Given the description of an element on the screen output the (x, y) to click on. 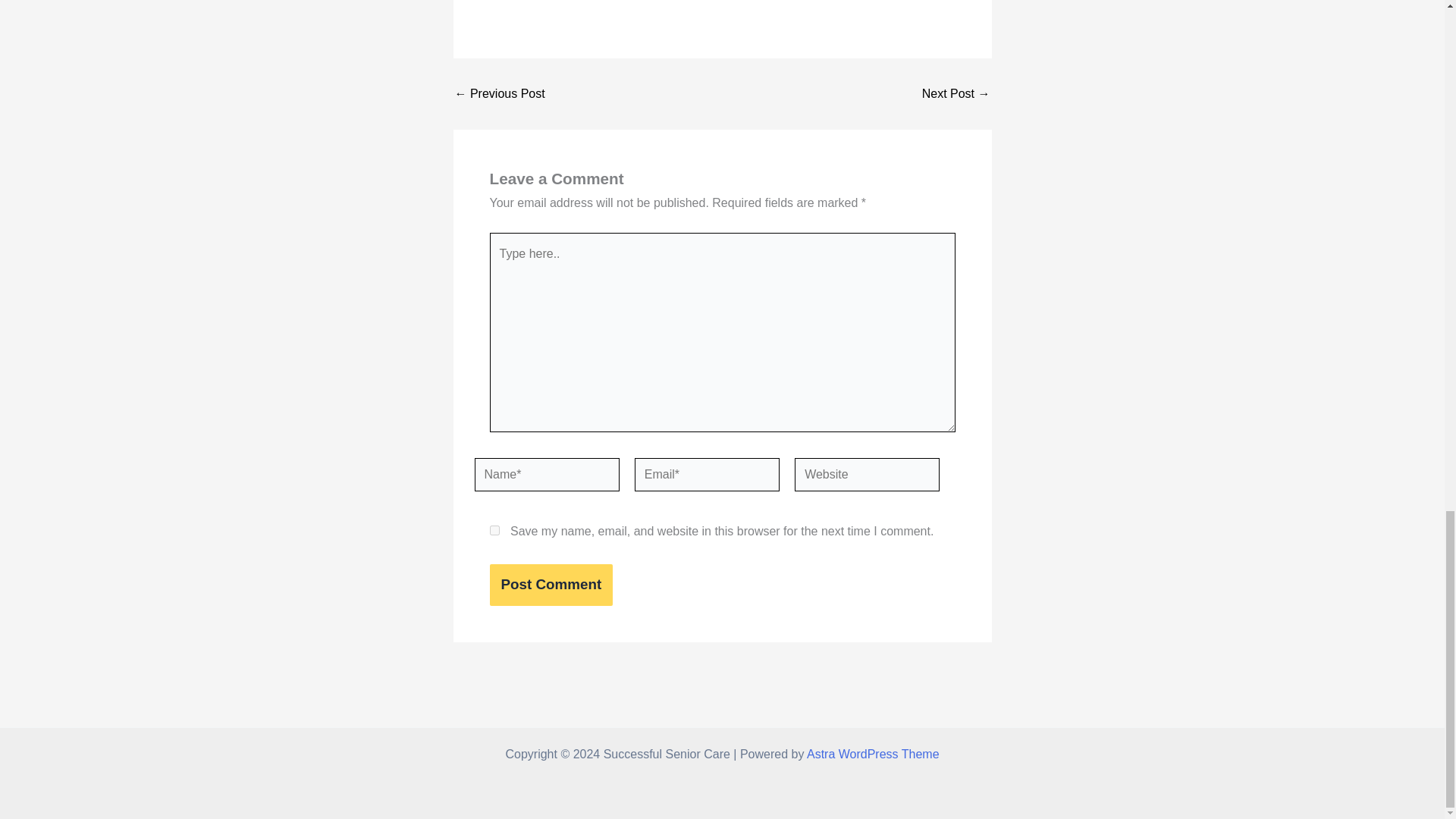
Post Comment (550, 585)
Astra WordPress Theme (872, 753)
Beginning the New Business Year....Everyday (499, 93)
Post Comment (550, 585)
yes (494, 530)
